Given the description of an element on the screen output the (x, y) to click on. 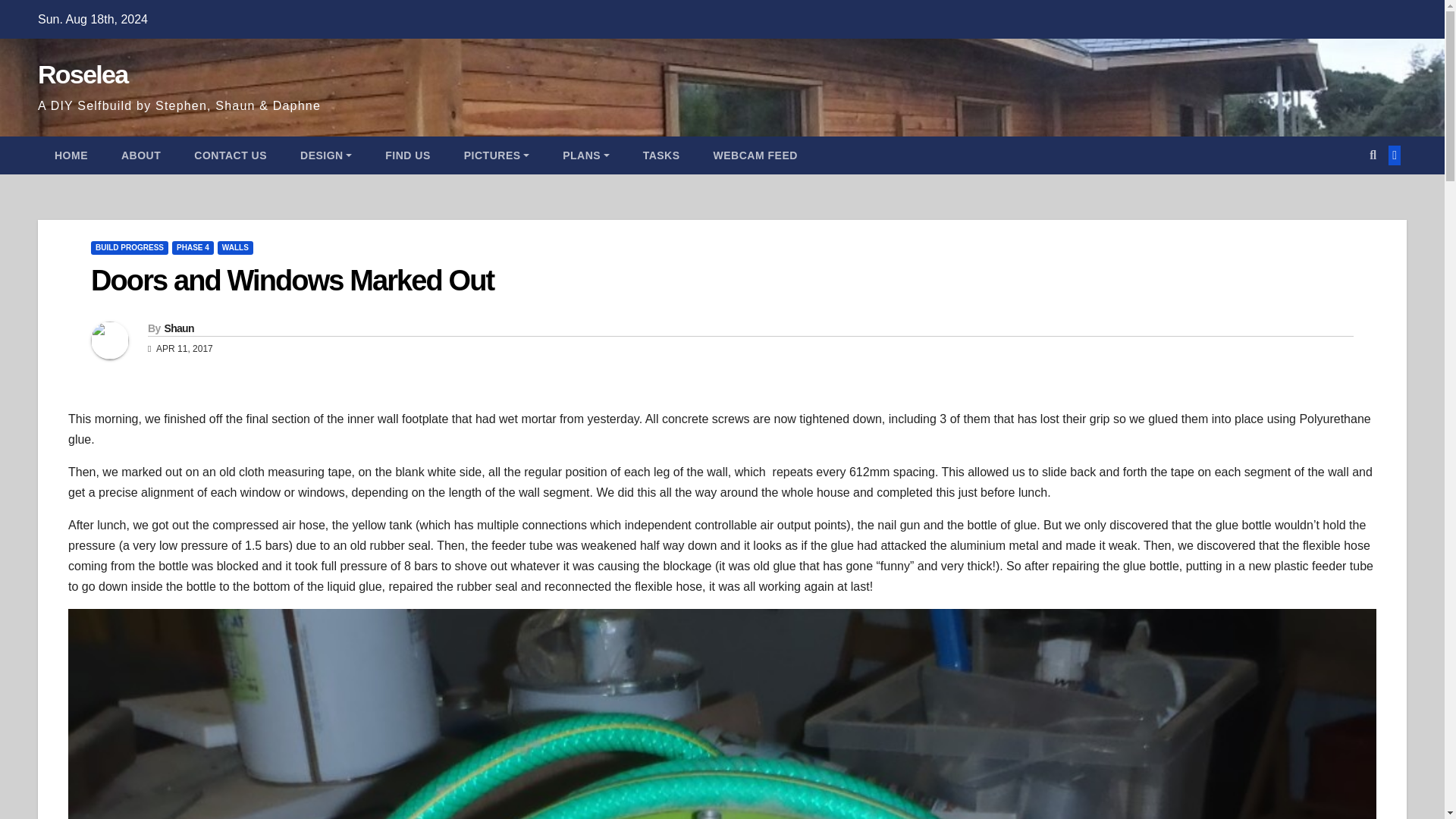
Home (70, 155)
CONTACT US (230, 155)
DESIGN (325, 155)
TASKS (661, 155)
WEBCAM FEED (755, 155)
Roselea (82, 73)
PICTURES (496, 155)
ABOUT (140, 155)
Permalink to: Doors and Windows Marked Out (291, 280)
